Given the description of an element on the screen output the (x, y) to click on. 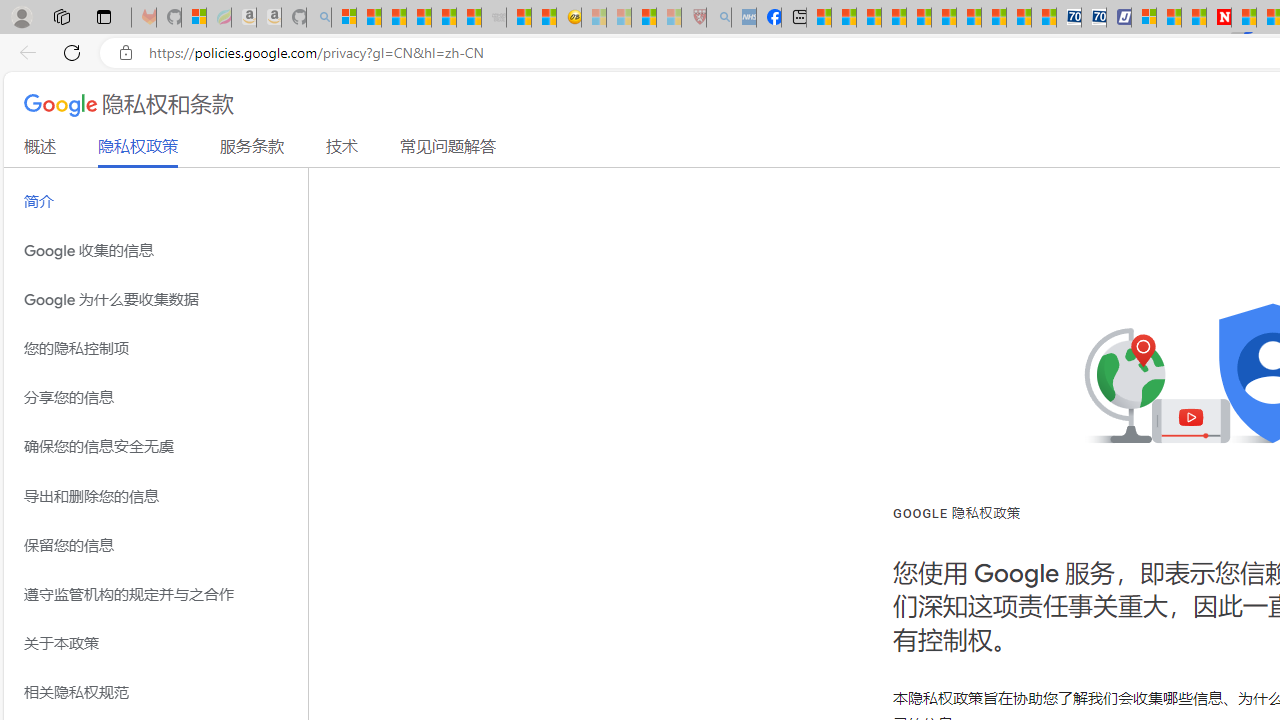
Cheap Hotels - Save70.com (1093, 17)
World - MSN (868, 17)
